Given the description of an element on the screen output the (x, y) to click on. 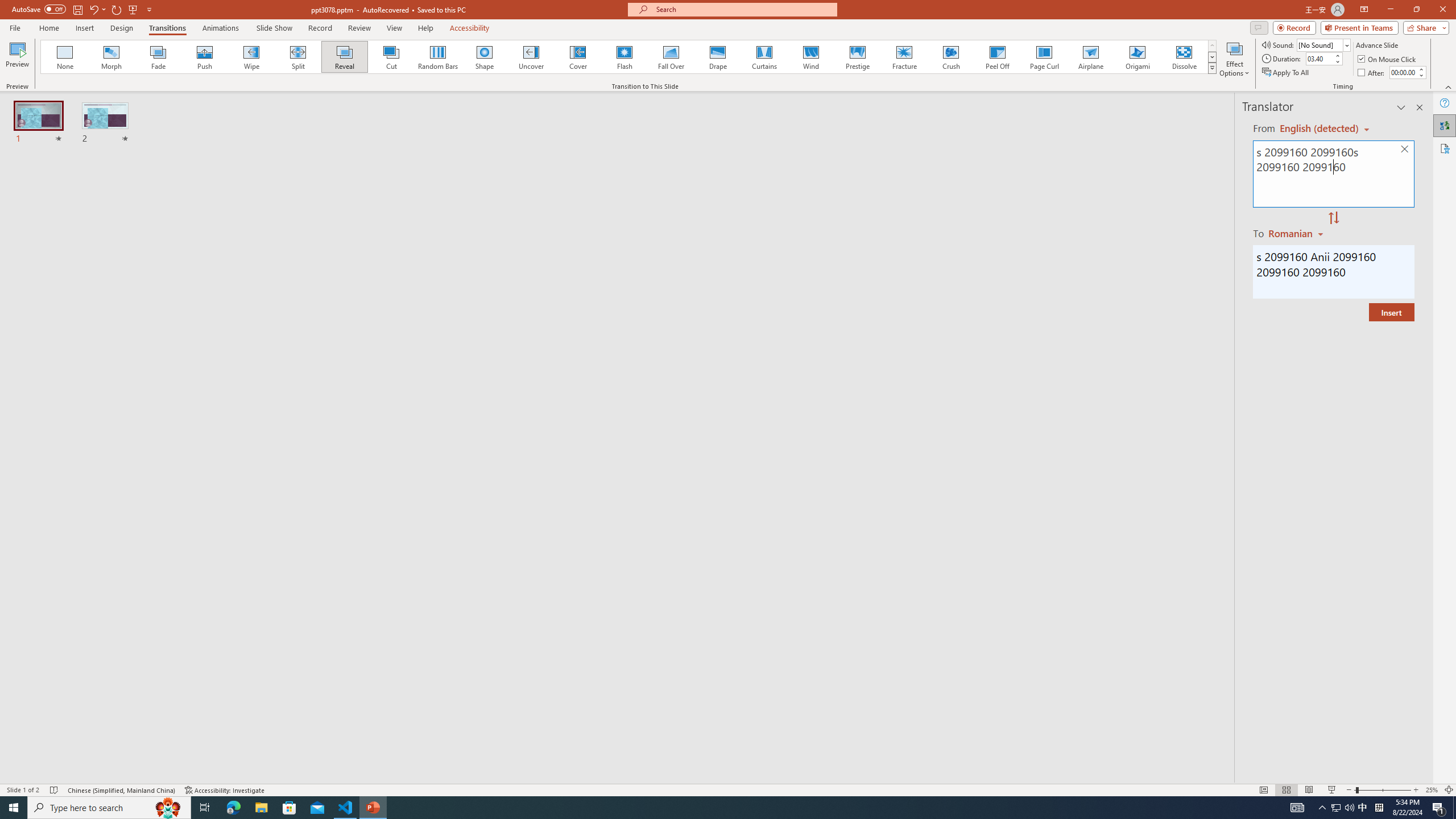
Page Curl (1043, 56)
Apply To All (1286, 72)
Drape (717, 56)
Sound (1324, 44)
Fade (158, 56)
Peel Off (997, 56)
Cover (577, 56)
